Given the description of an element on the screen output the (x, y) to click on. 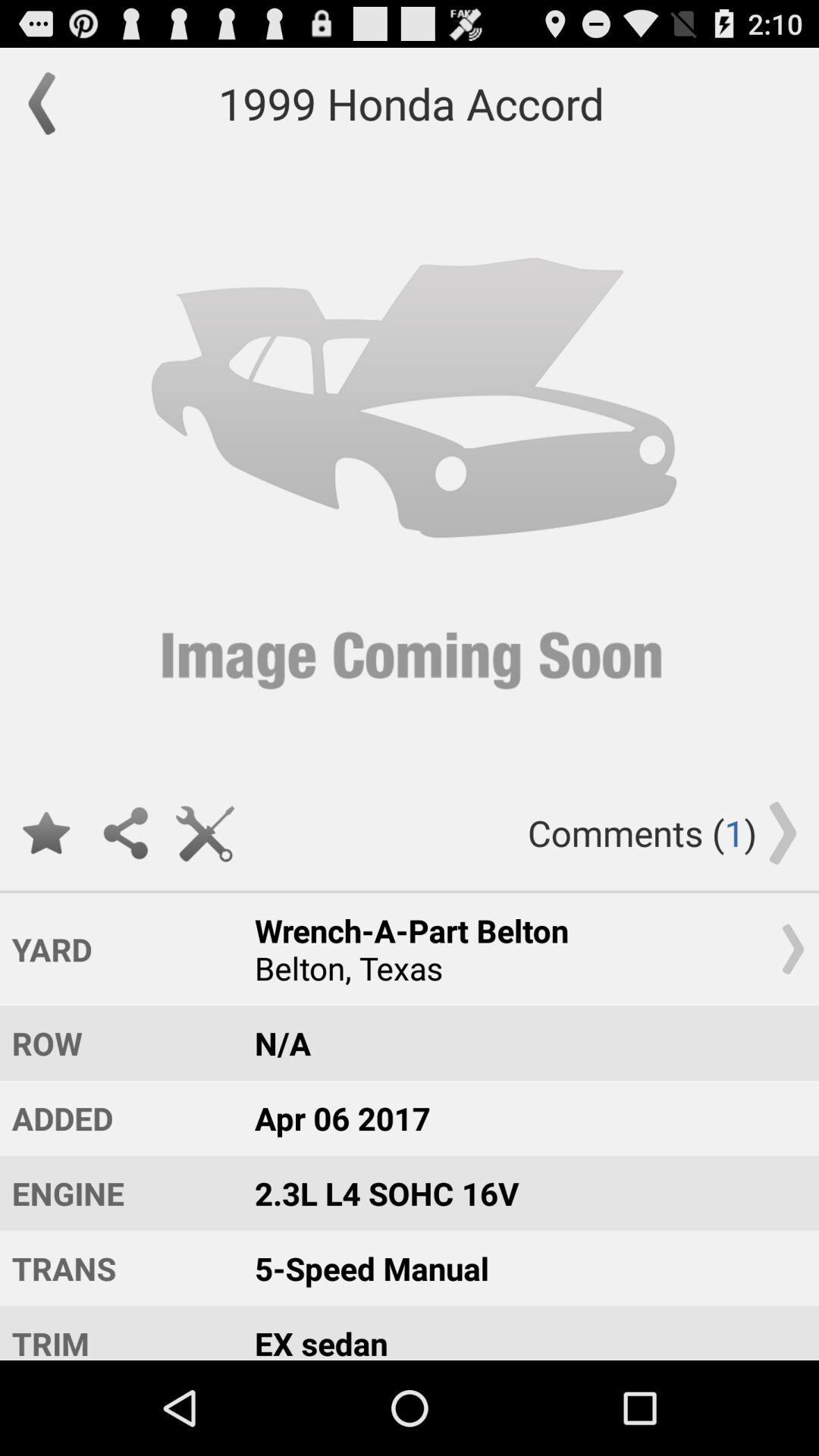
press app next to row (522, 1042)
